Given the description of an element on the screen output the (x, y) to click on. 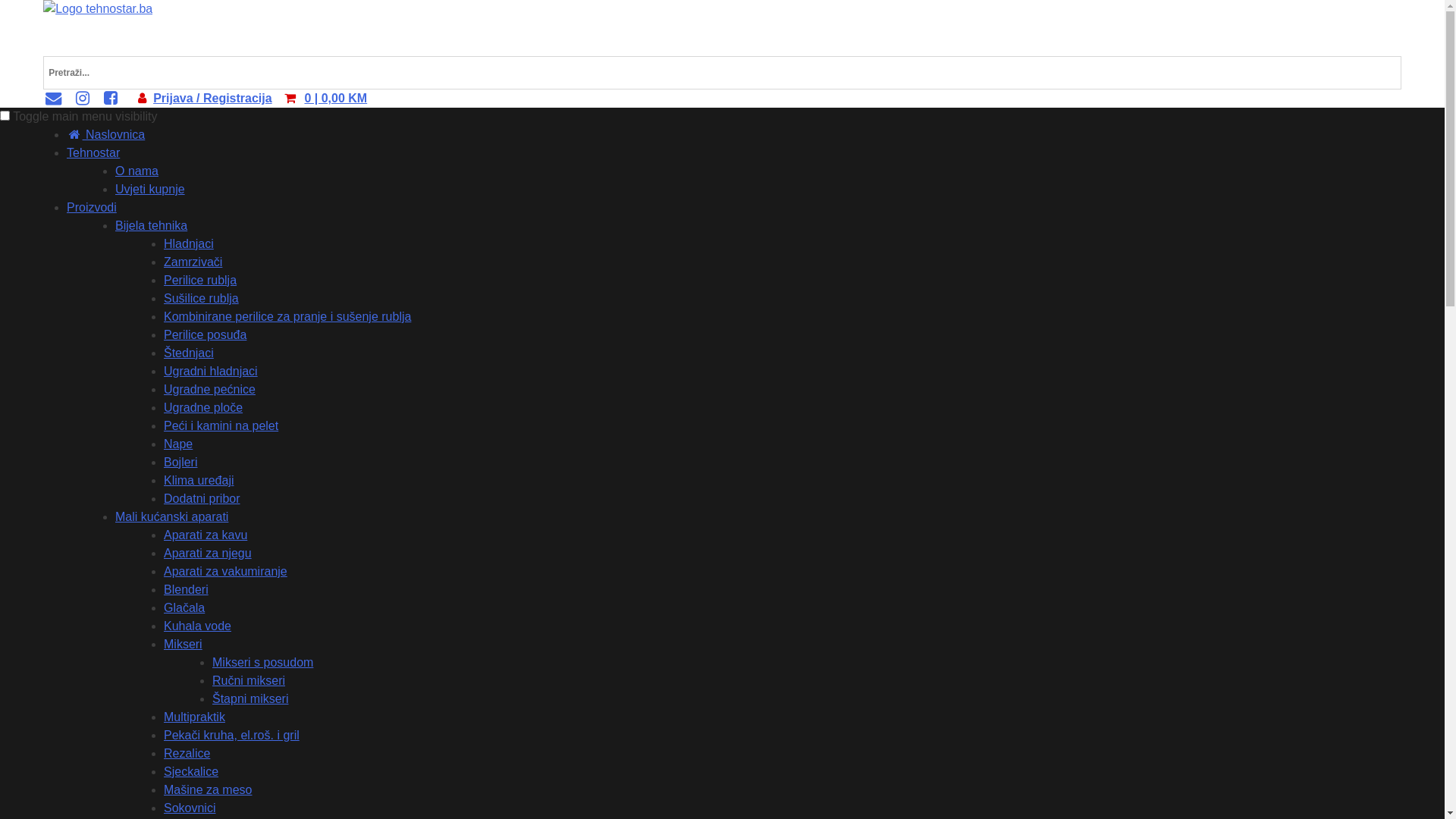
Dodatni pribor Element type: text (201, 498)
Bojleri Element type: text (180, 461)
Sjeckalice Element type: text (190, 771)
Sokovnici Element type: text (189, 807)
Naslovnica Element type: text (105, 134)
Aparati za njegu Element type: text (207, 552)
Proizvodi Element type: text (91, 206)
Mikseri s posudom Element type: text (262, 661)
Bijela tehnika Element type: text (151, 225)
Mikseri Element type: text (182, 643)
Uvjeti kupnje Element type: text (150, 188)
Blenderi Element type: text (185, 589)
Ugradni hladnjaci Element type: text (210, 370)
Nape Element type: text (177, 443)
Tehnostar Element type: text (92, 152)
Hladnjaci Element type: text (188, 243)
Aparati za vakumiranje Element type: text (225, 570)
Rezalice Element type: text (186, 752)
Perilice rublja Element type: text (199, 279)
0 | 0,00 KM Element type: text (335, 97)
Aparati za kavu Element type: text (205, 534)
Prijava / Registracija Element type: text (212, 97)
Kuhala vode Element type: text (197, 625)
Multipraktik Element type: text (194, 716)
O nama Element type: text (136, 170)
